Given the description of an element on the screen output the (x, y) to click on. 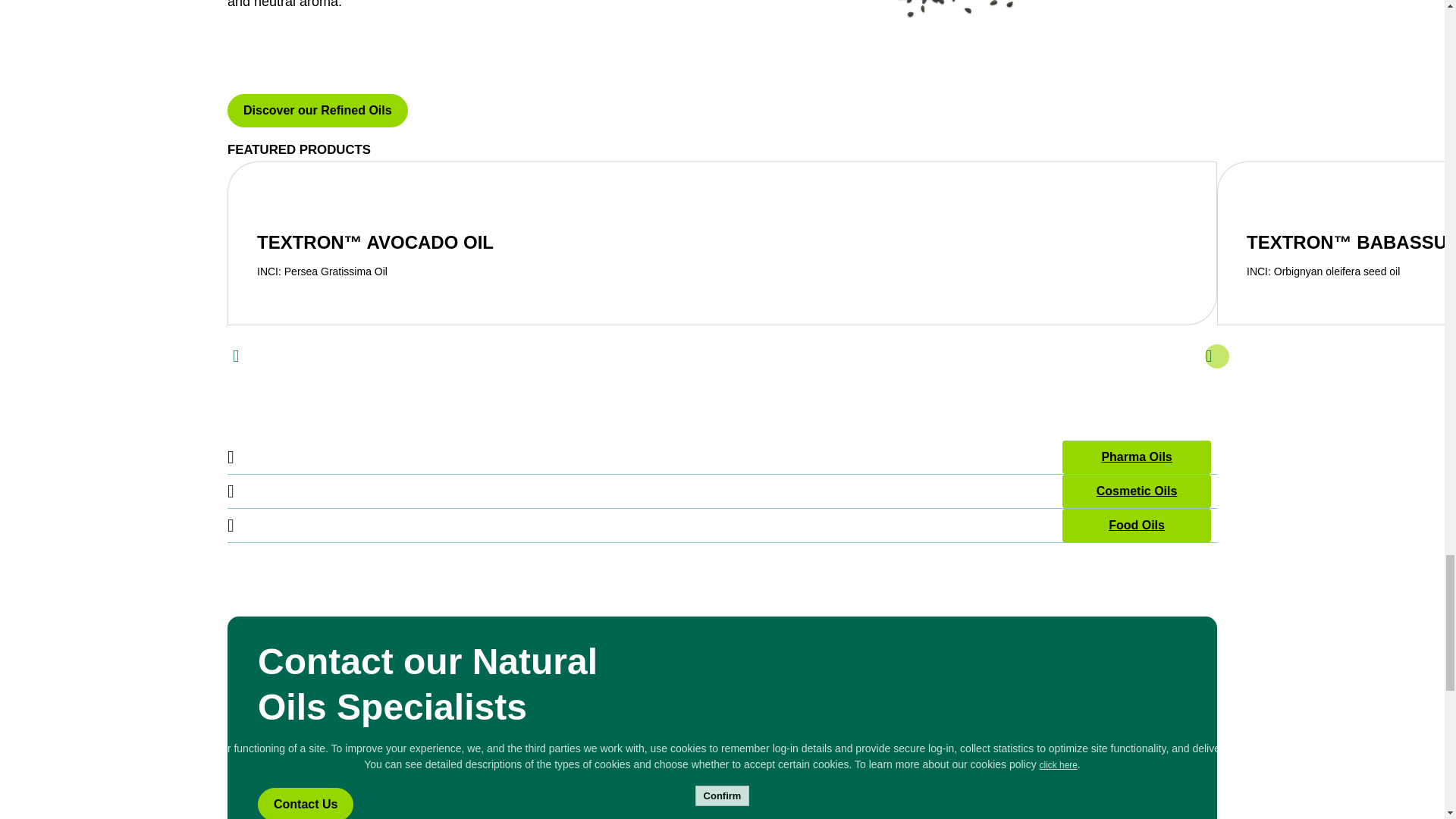
Vantage Pharma Oils Brochure (1136, 457)
Vantage Food Oils Brochure (1136, 524)
Vantage Natural Oils Brochure (1136, 491)
Image 6 (886, 38)
